Given the description of an element on the screen output the (x, y) to click on. 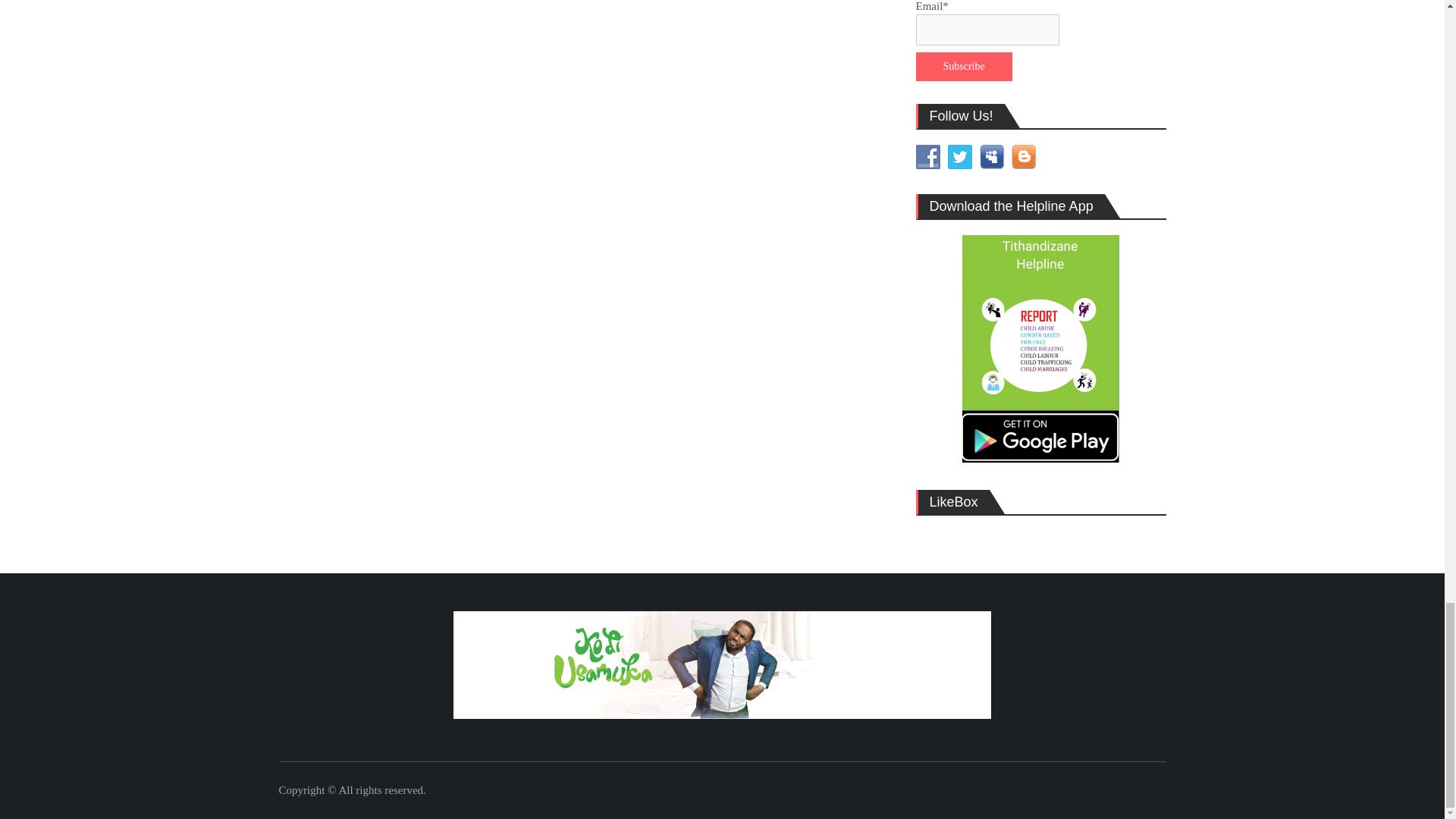
Follow Us on Facebook (927, 156)
Follow Us on Blogger (1023, 156)
Follow Us on Twitter (959, 156)
Follow Us on MySpace (991, 156)
Subscribe (963, 66)
